Given the description of an element on the screen output the (x, y) to click on. 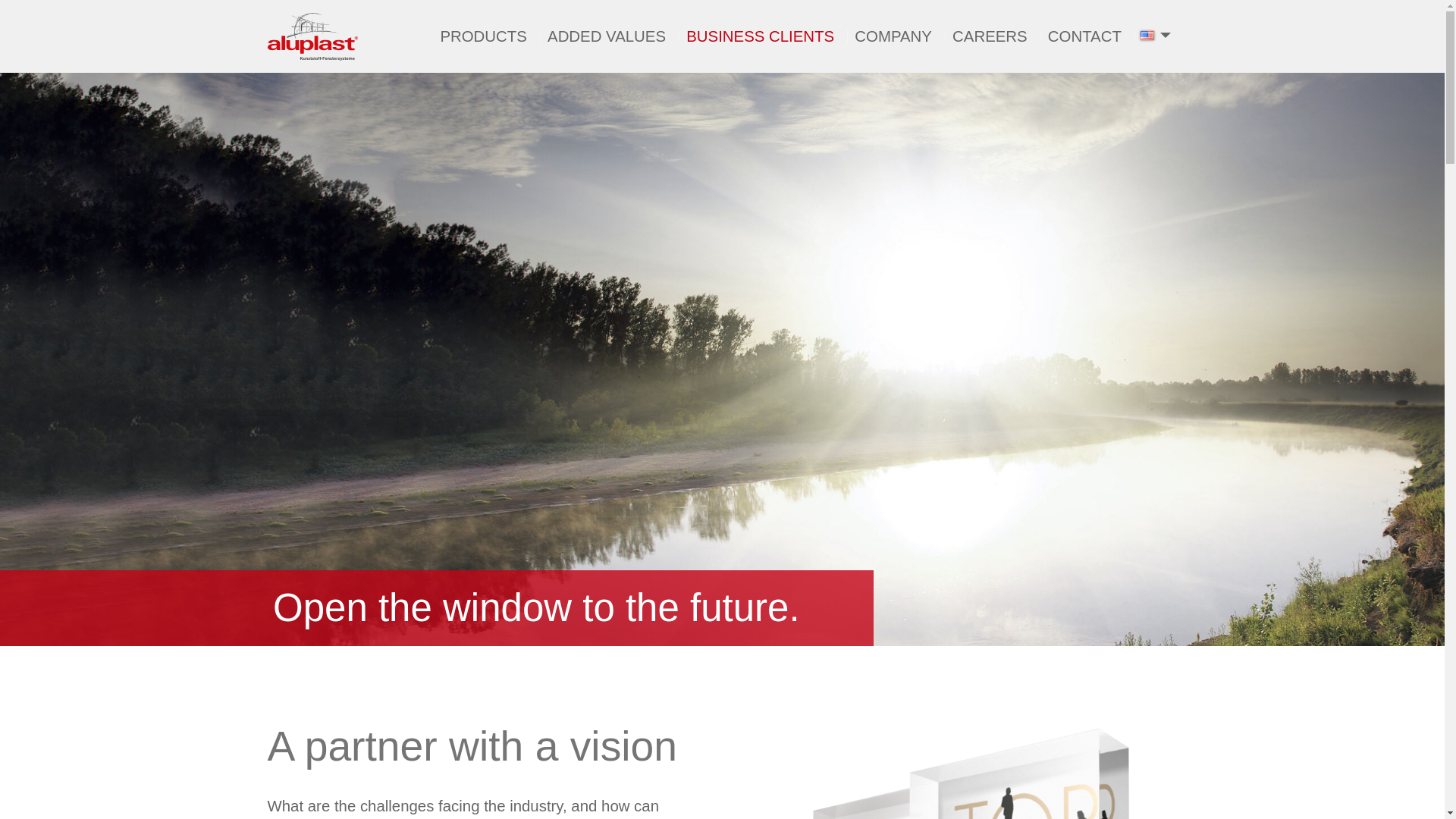
Back to home (311, 36)
PRODUCTS (483, 35)
